Given the description of an element on the screen output the (x, y) to click on. 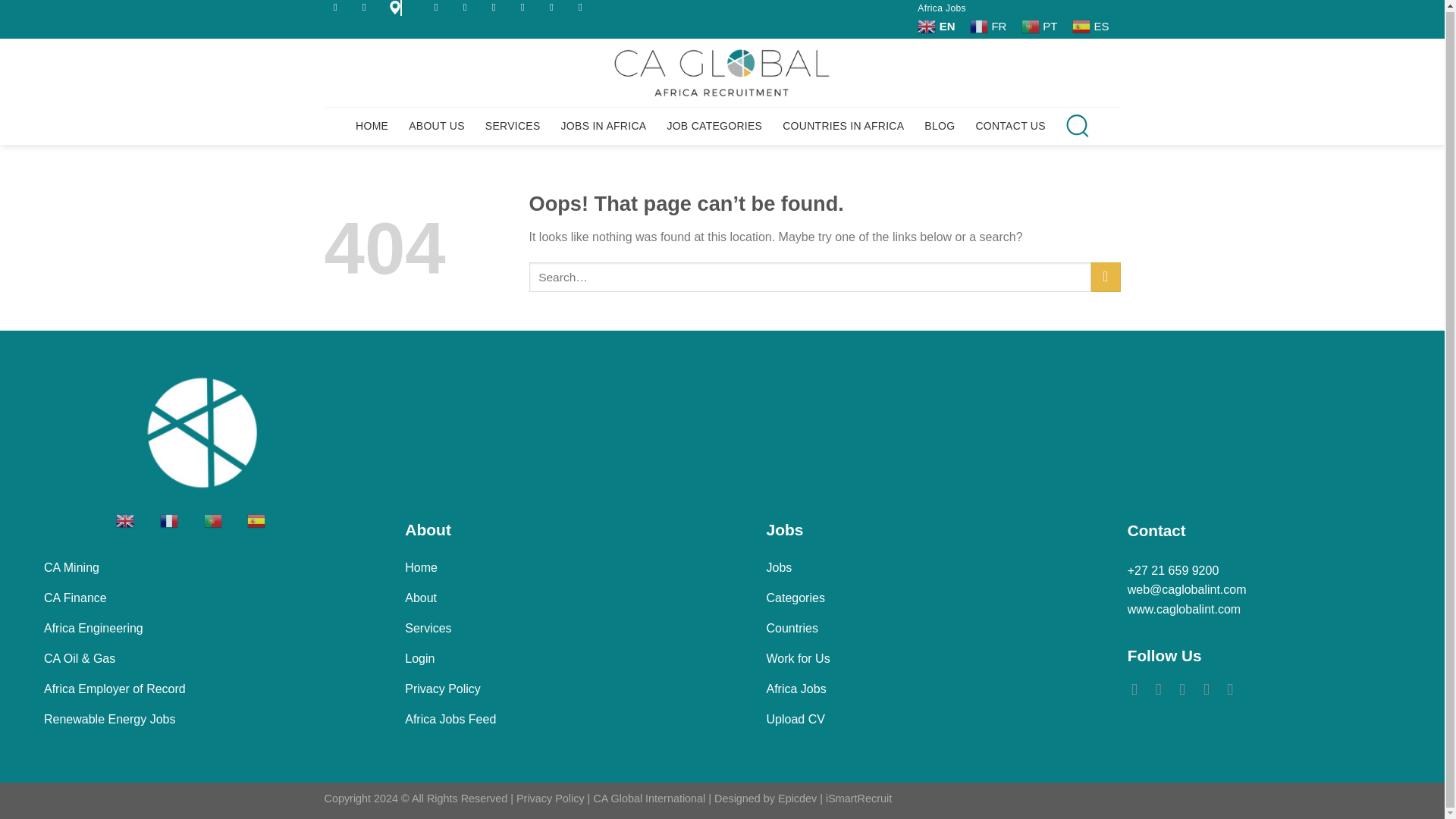
FR (989, 25)
French (180, 519)
CA Global - Jobs in Africa (721, 72)
Spanish (1091, 25)
EN (937, 25)
English (136, 519)
HOME (371, 125)
Portuguese (223, 519)
SERVICES (512, 125)
French (989, 25)
